Given the description of an element on the screen output the (x, y) to click on. 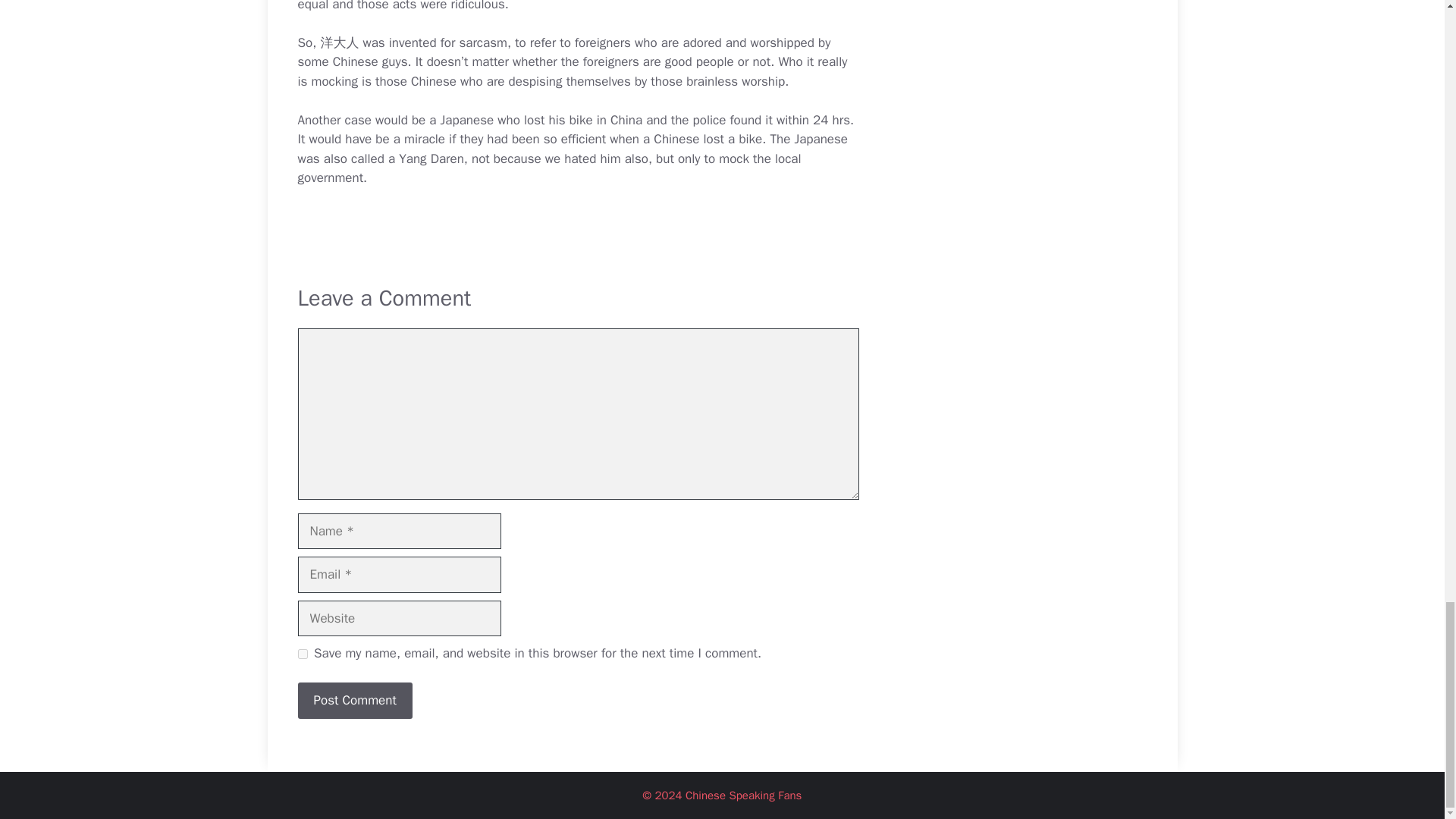
Post Comment (354, 700)
Post Comment (354, 700)
yes (302, 654)
